Given the description of an element on the screen output the (x, y) to click on. 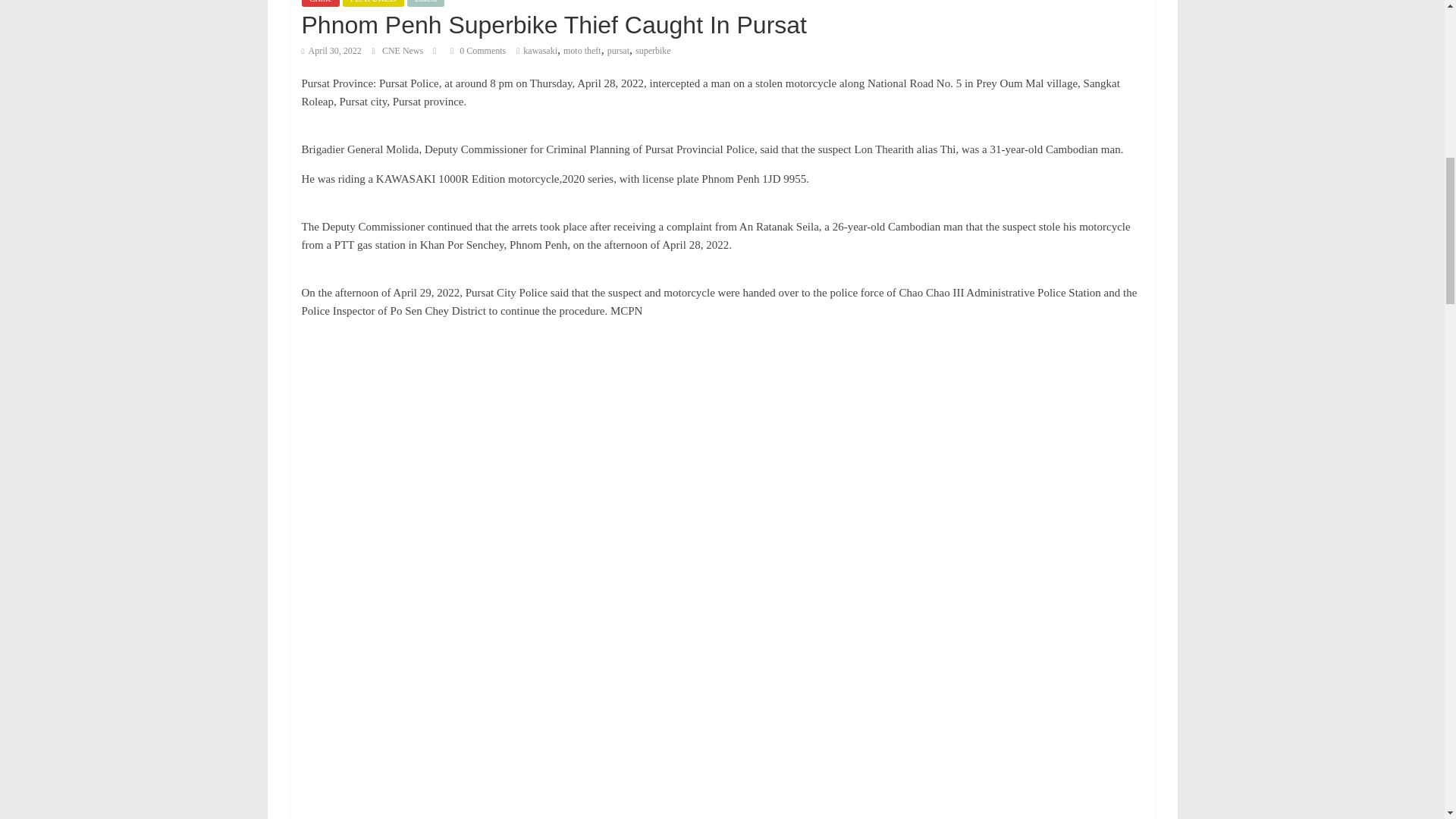
CNE News (403, 50)
superbike (652, 50)
moto theft (582, 50)
FEATURED (373, 3)
8:46 pm (331, 50)
kawasaki (539, 50)
Crime (320, 3)
CNE News (403, 50)
April 30, 2022 (331, 50)
pursat (617, 50)
